Given the description of an element on the screen output the (x, y) to click on. 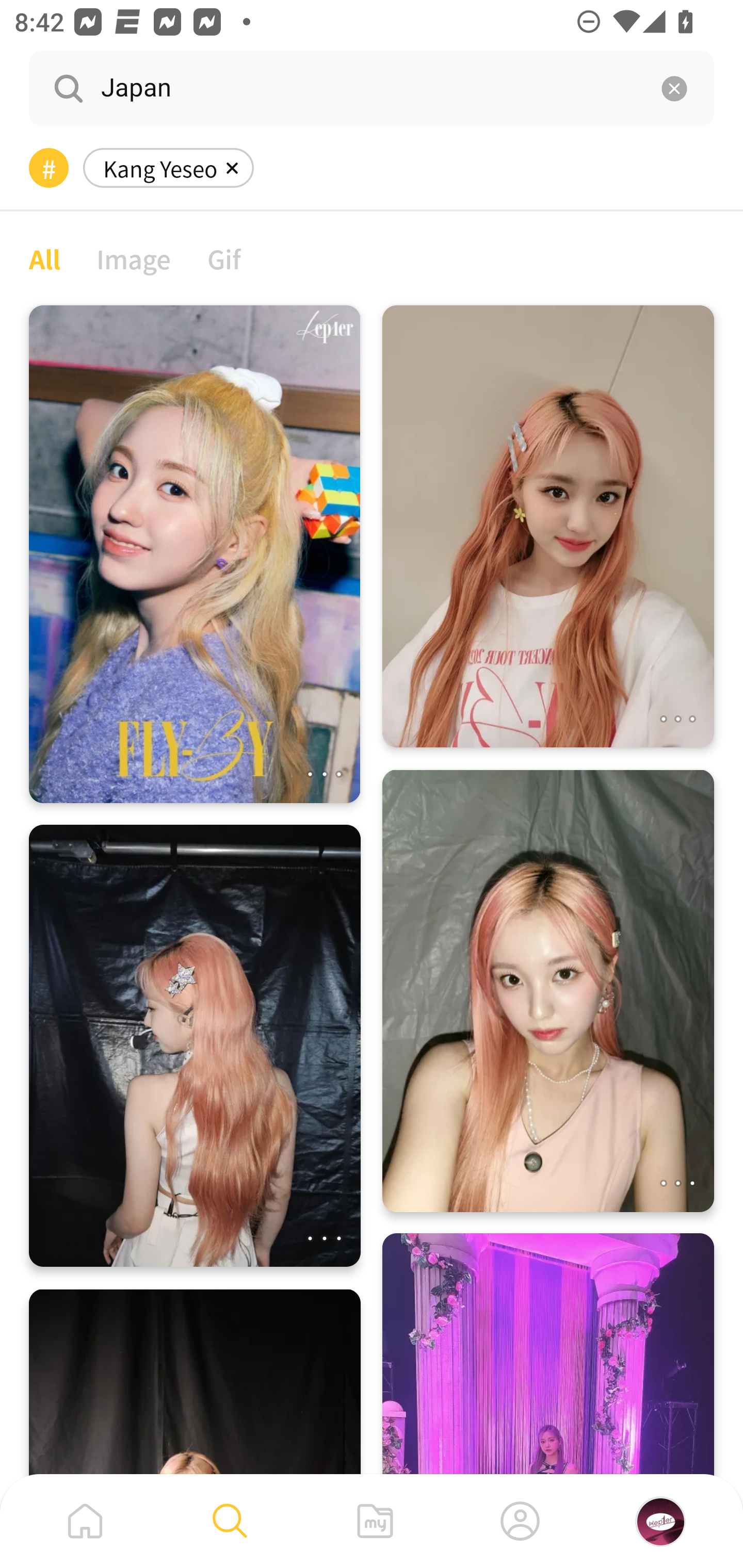
All (44, 257)
Image (133, 257)
Gif (223, 257)
